Given the description of an element on the screen output the (x, y) to click on. 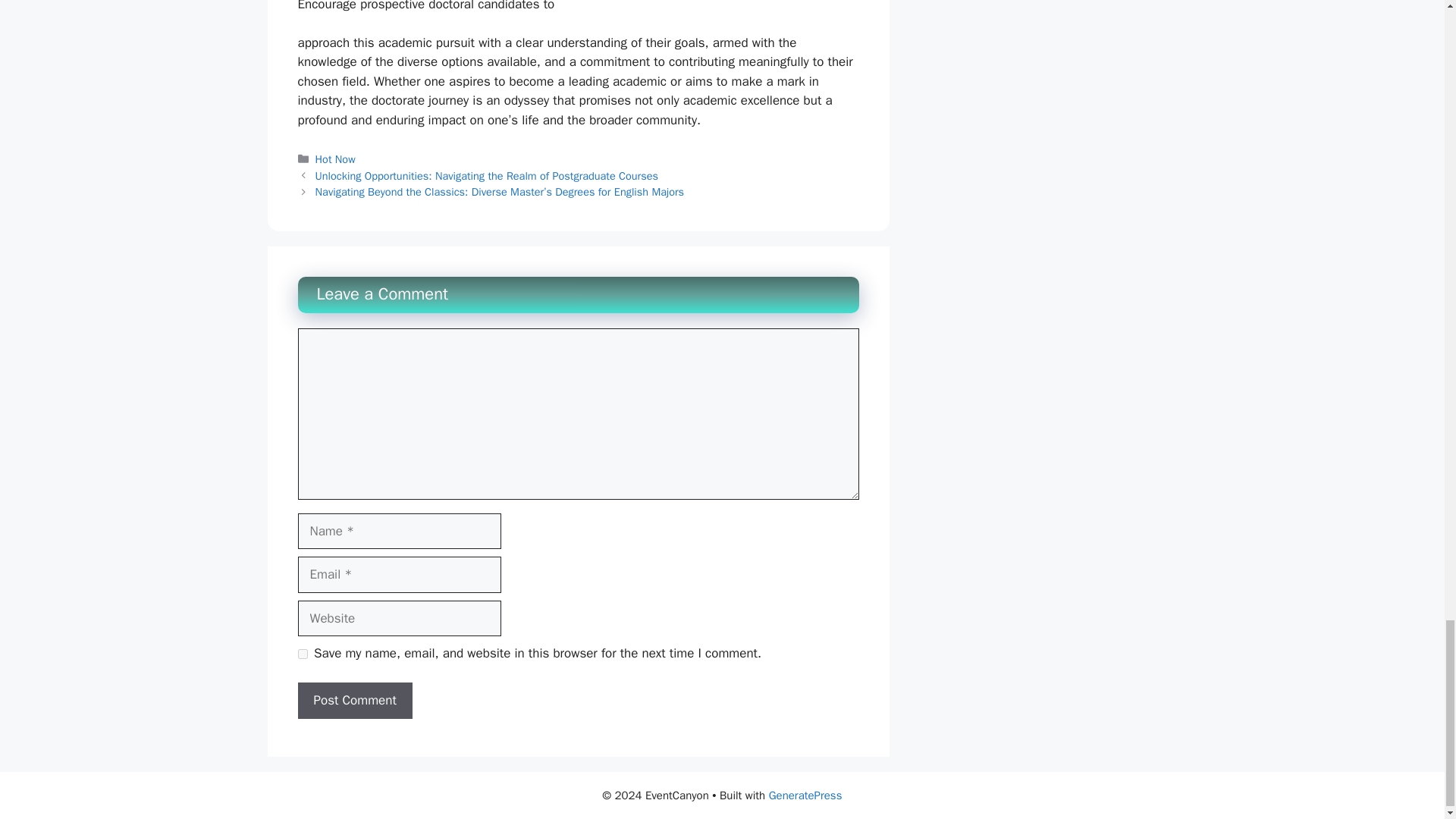
yes (302, 654)
Hot Now (335, 159)
Post Comment (354, 700)
Post Comment (354, 700)
GeneratePress (805, 795)
